Given the description of an element on the screen output the (x, y) to click on. 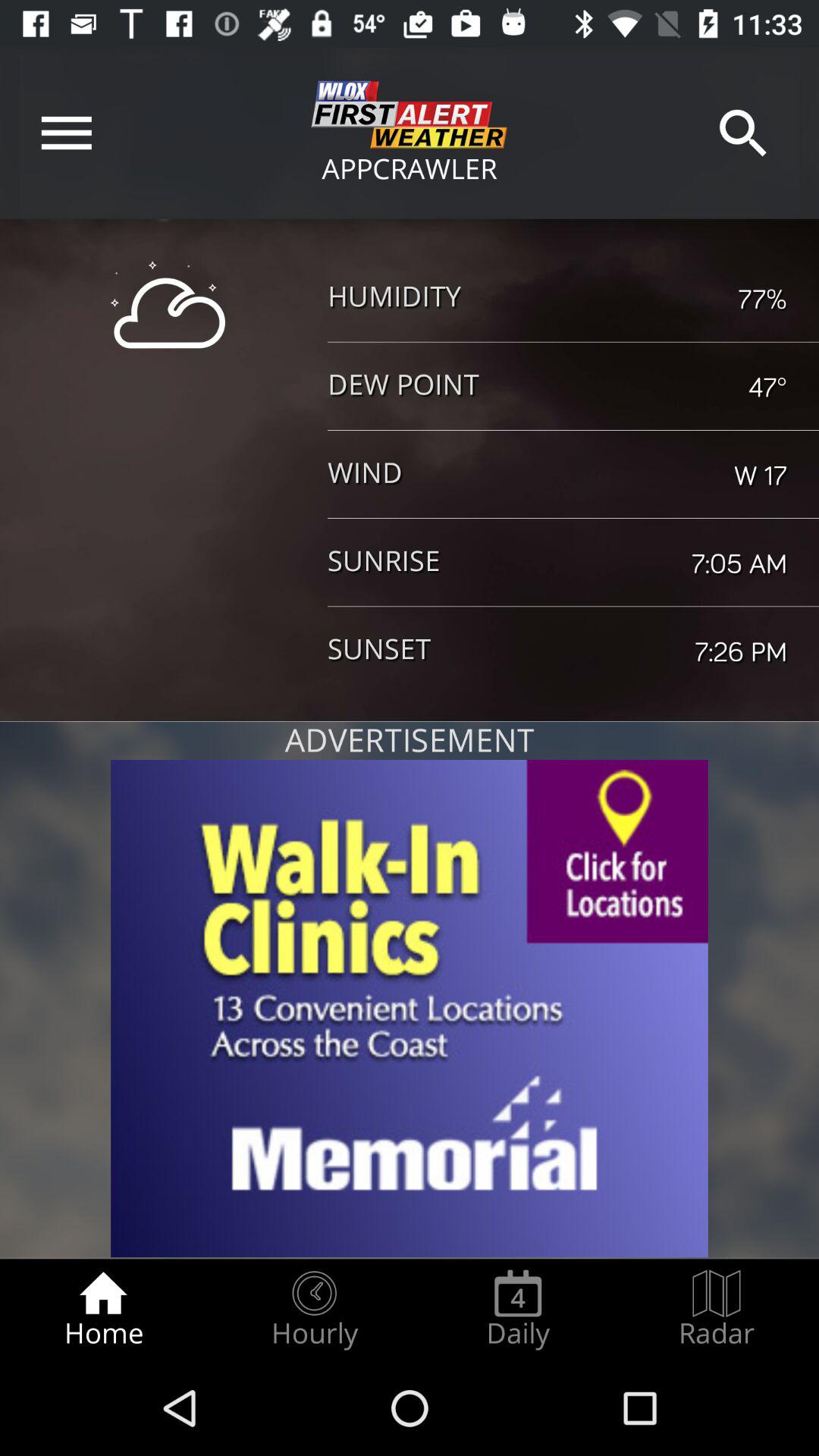
launch home (103, 1309)
